Given the description of an element on the screen output the (x, y) to click on. 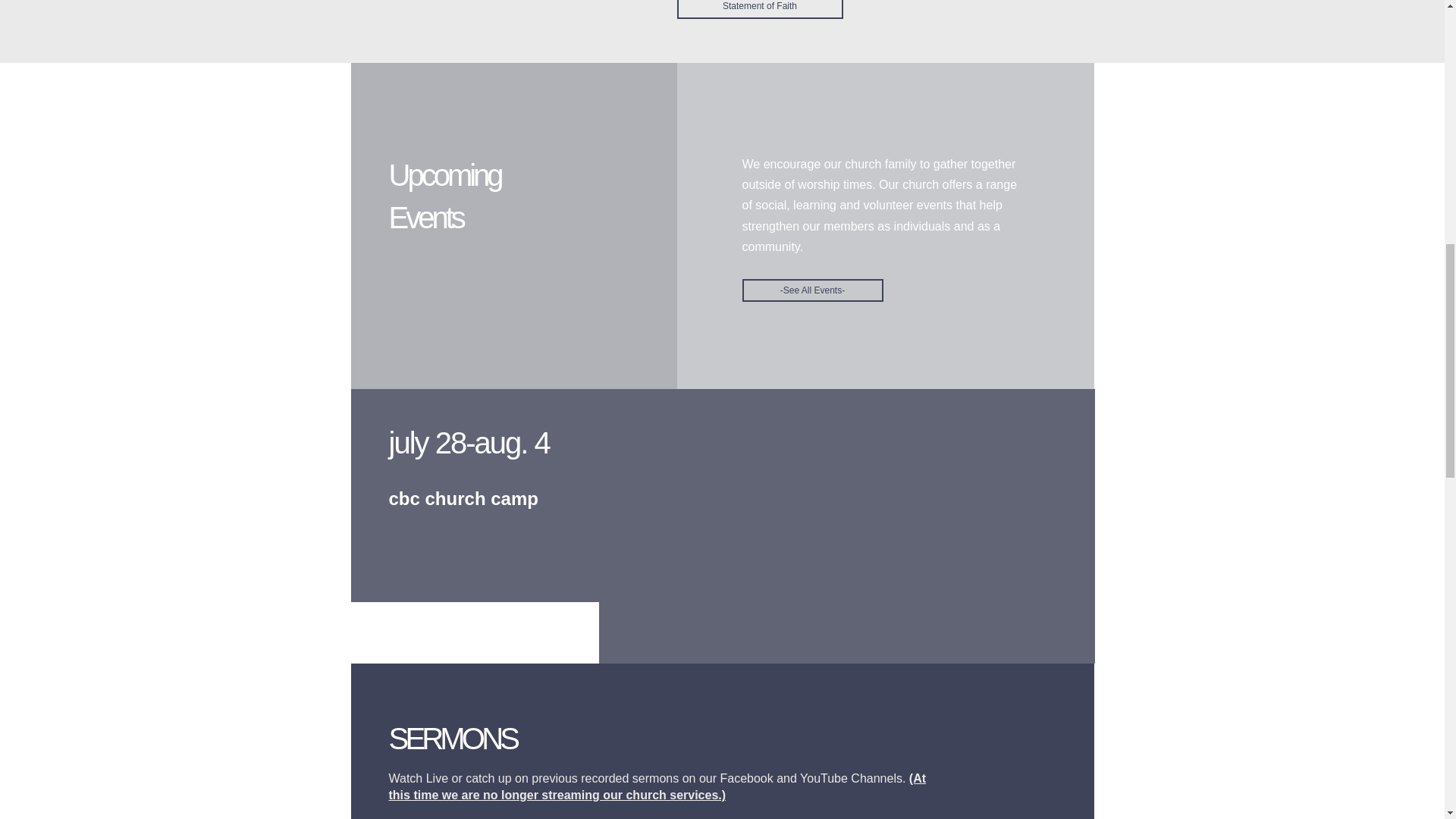
-See All Events- (811, 290)
Statement of Faith (760, 9)
